Given the description of an element on the screen output the (x, y) to click on. 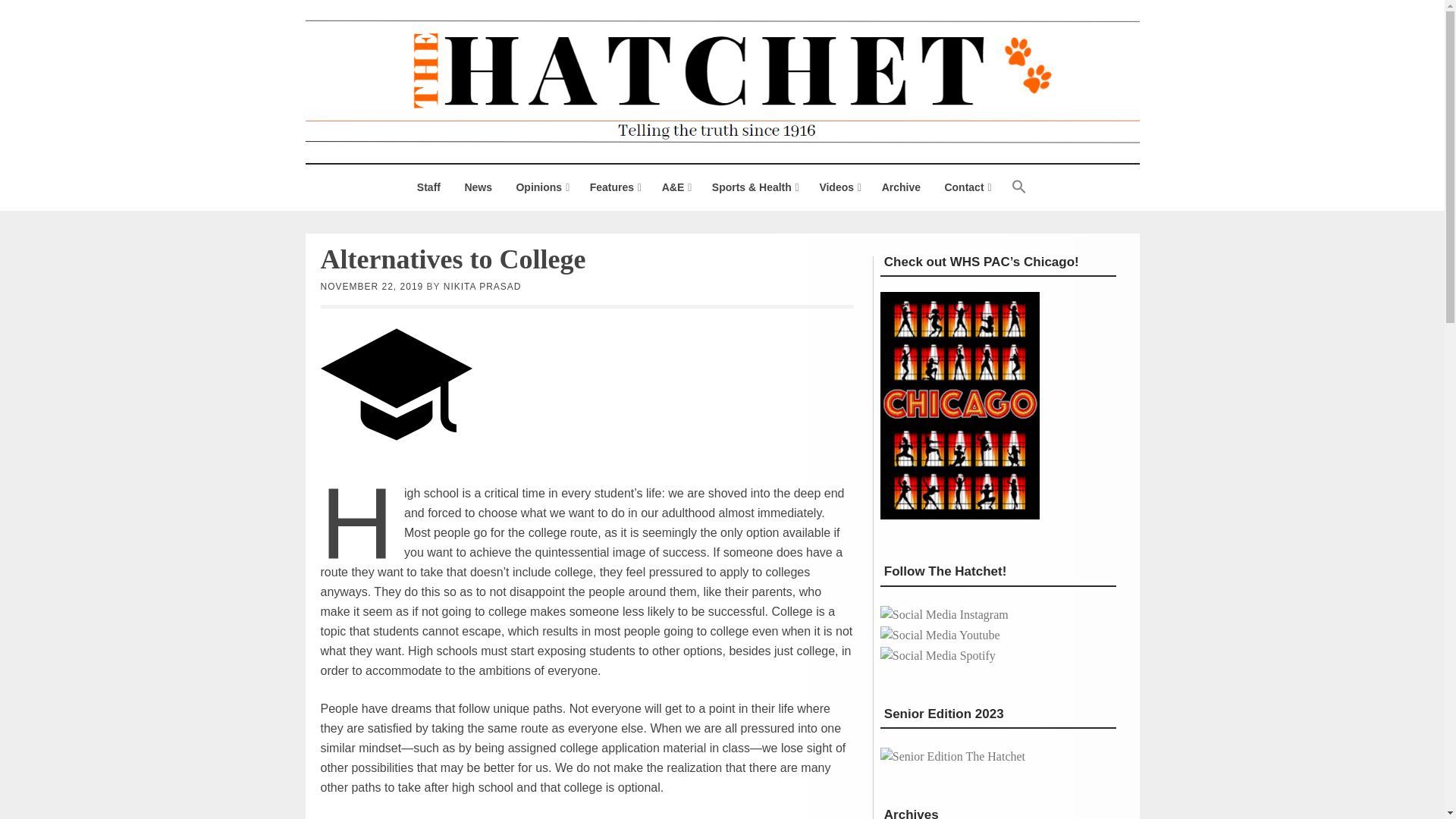
Social Media Instagram (944, 615)
View all posts by Nikita Prasad (482, 286)
Videos (838, 187)
7:35 pm (371, 286)
News (478, 187)
Social Media Youtube (940, 635)
Staff (428, 187)
NOVEMBER 22, 2019 (371, 286)
Senior Edition The Hatchet (952, 756)
Opinions (540, 187)
